Given the description of an element on the screen output the (x, y) to click on. 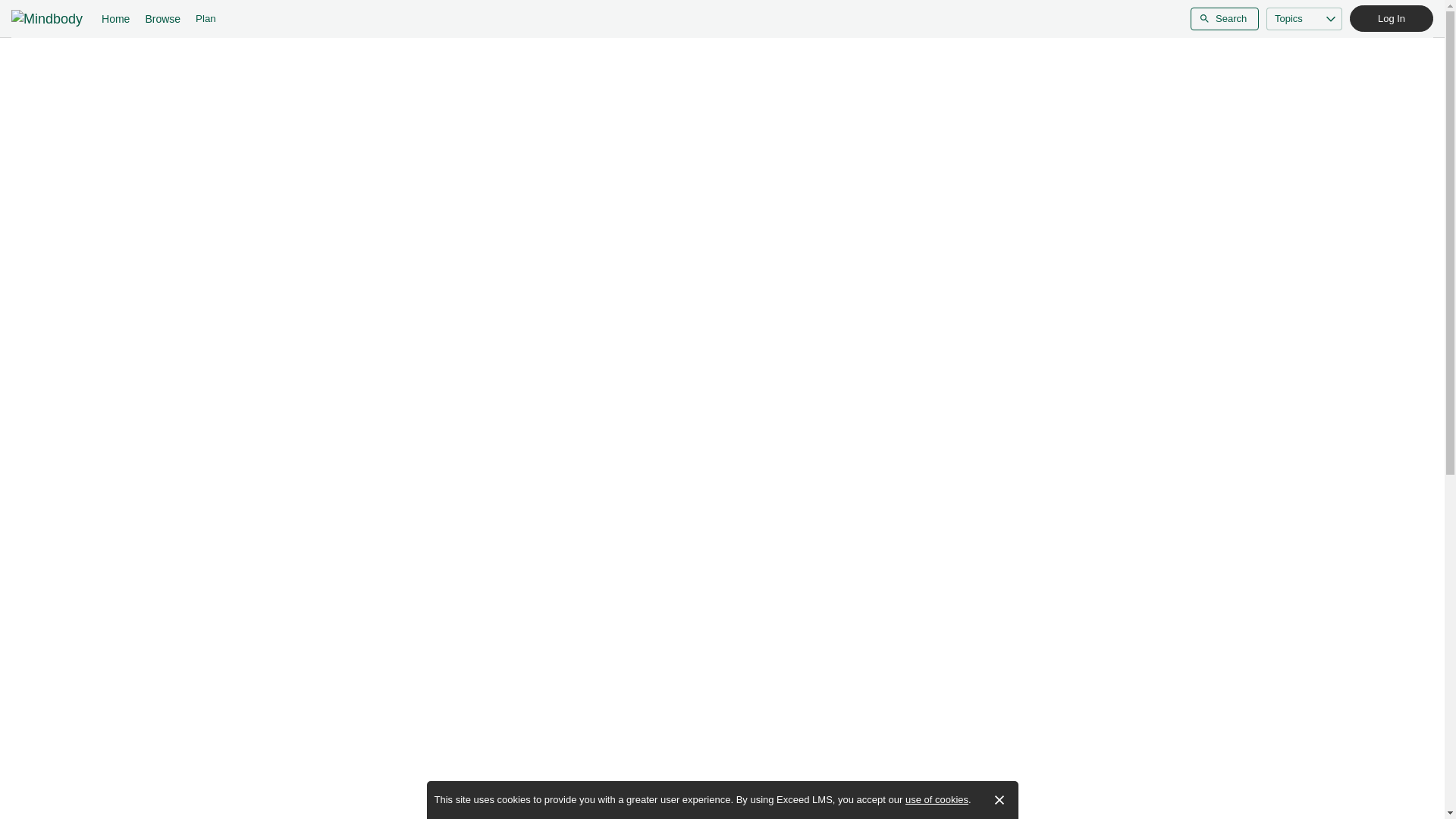
Search (1225, 18)
Topics (1304, 18)
Browse (161, 18)
use of cookies (936, 799)
Home (115, 18)
Plan (205, 18)
